Given the description of an element on the screen output the (x, y) to click on. 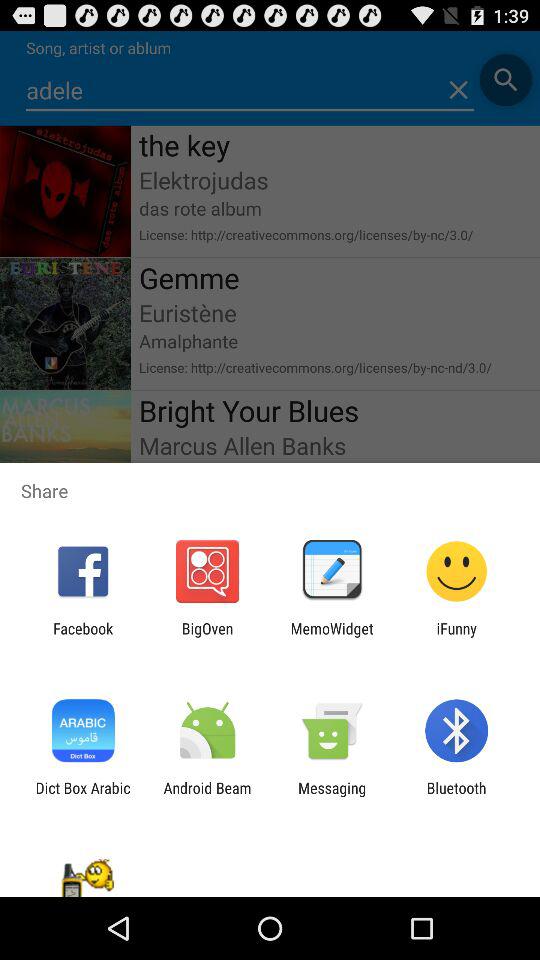
select icon next to android beam icon (82, 796)
